Given the description of an element on the screen output the (x, y) to click on. 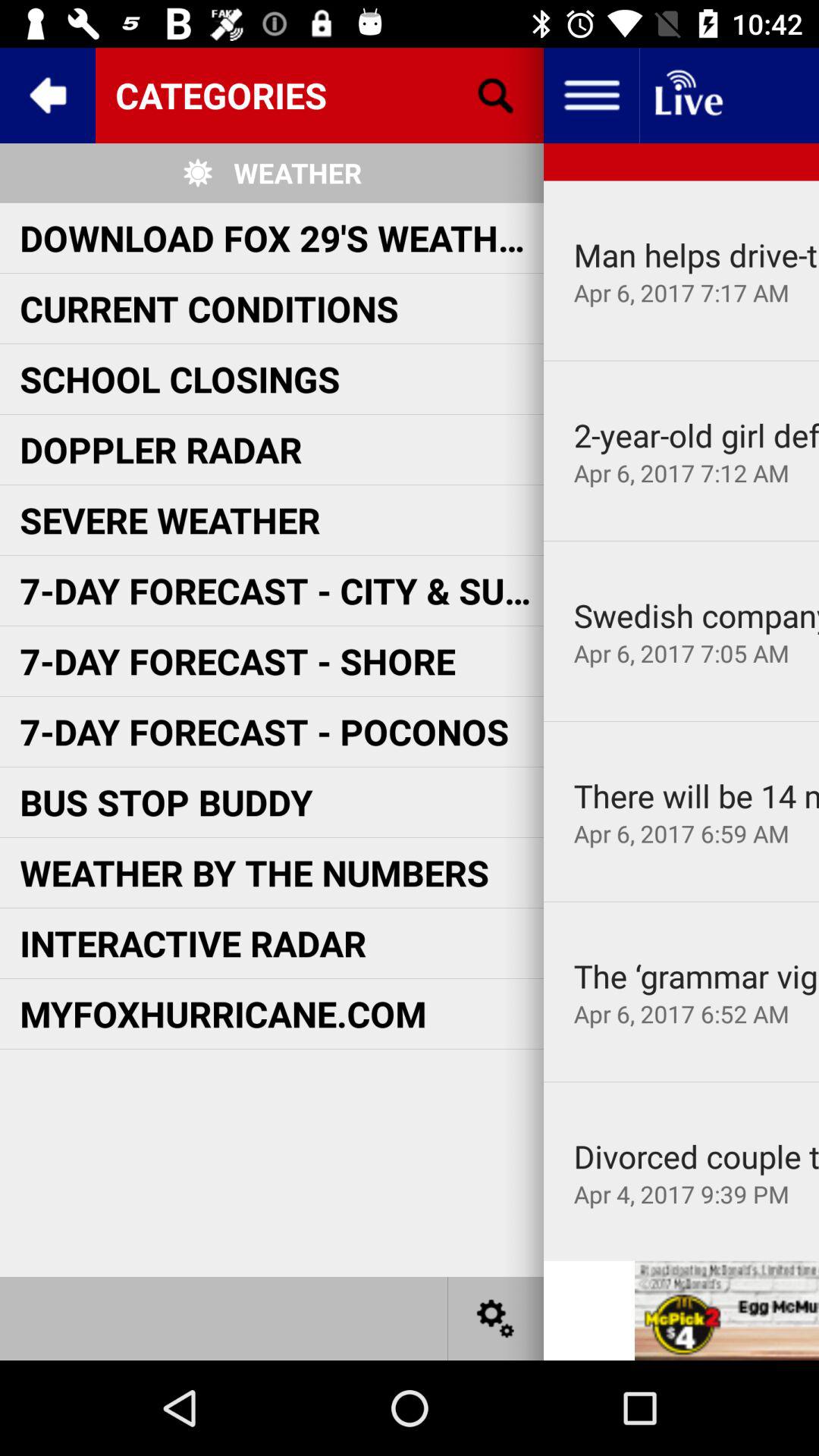
press the icon below apr 6 2017 (681, 360)
